Given the description of an element on the screen output the (x, y) to click on. 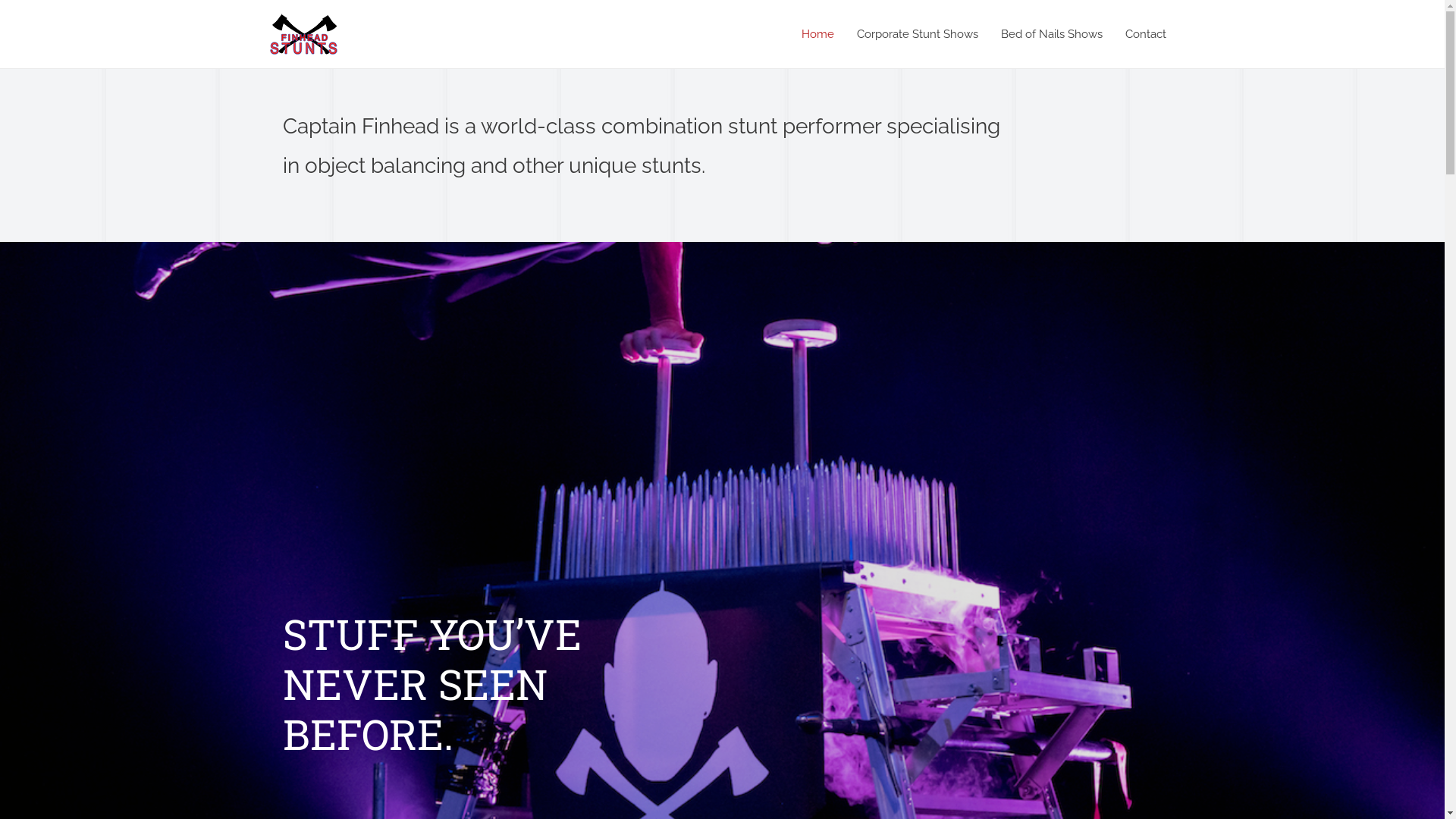
Bed of Nails Shows Element type: text (1050, 33)
Home Element type: text (817, 33)
Contact Element type: text (1144, 33)
Corporate Stunt Shows Element type: text (916, 33)
